Given the description of an element on the screen output the (x, y) to click on. 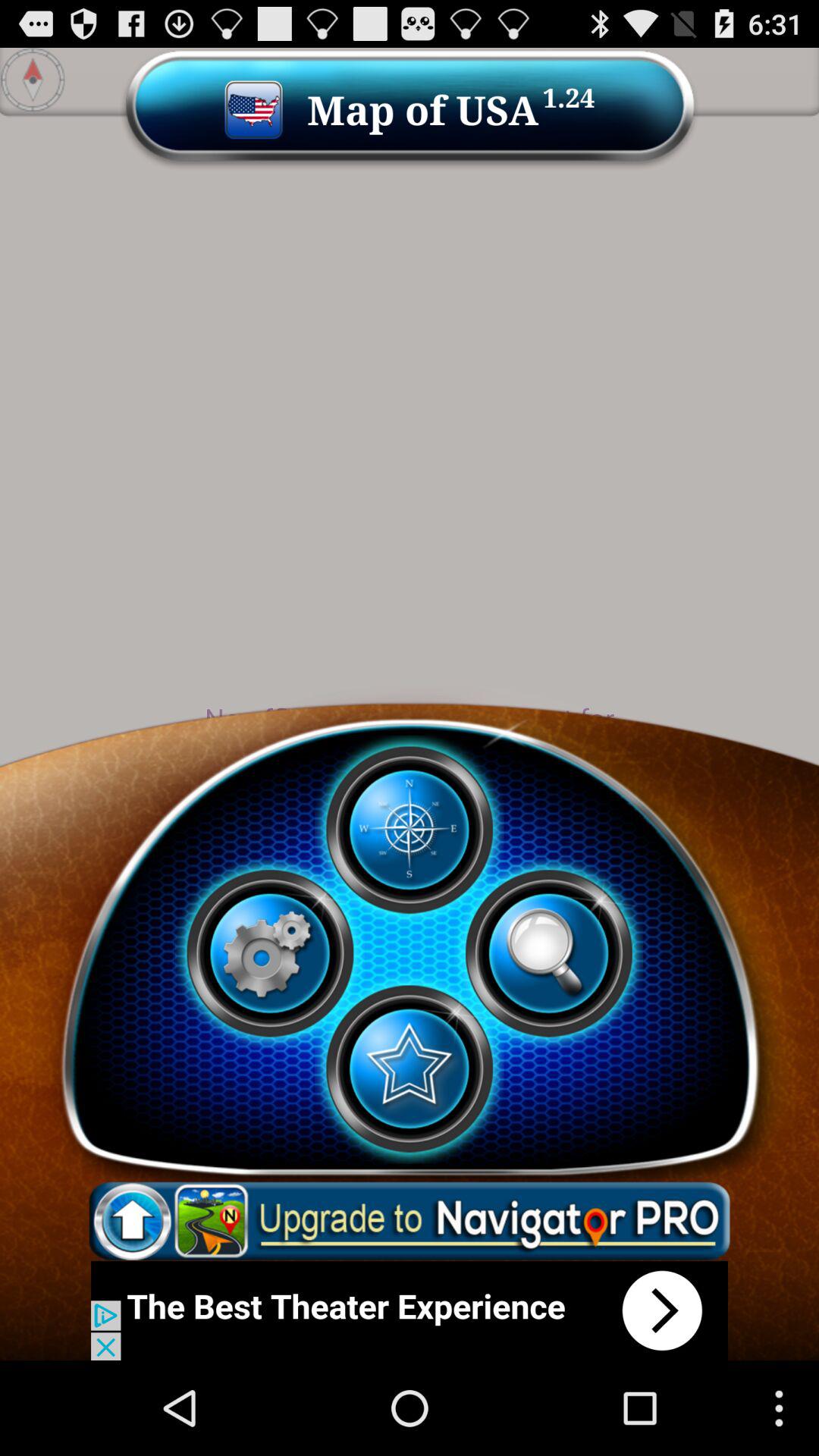
open map (408, 829)
